Given the description of an element on the screen output the (x, y) to click on. 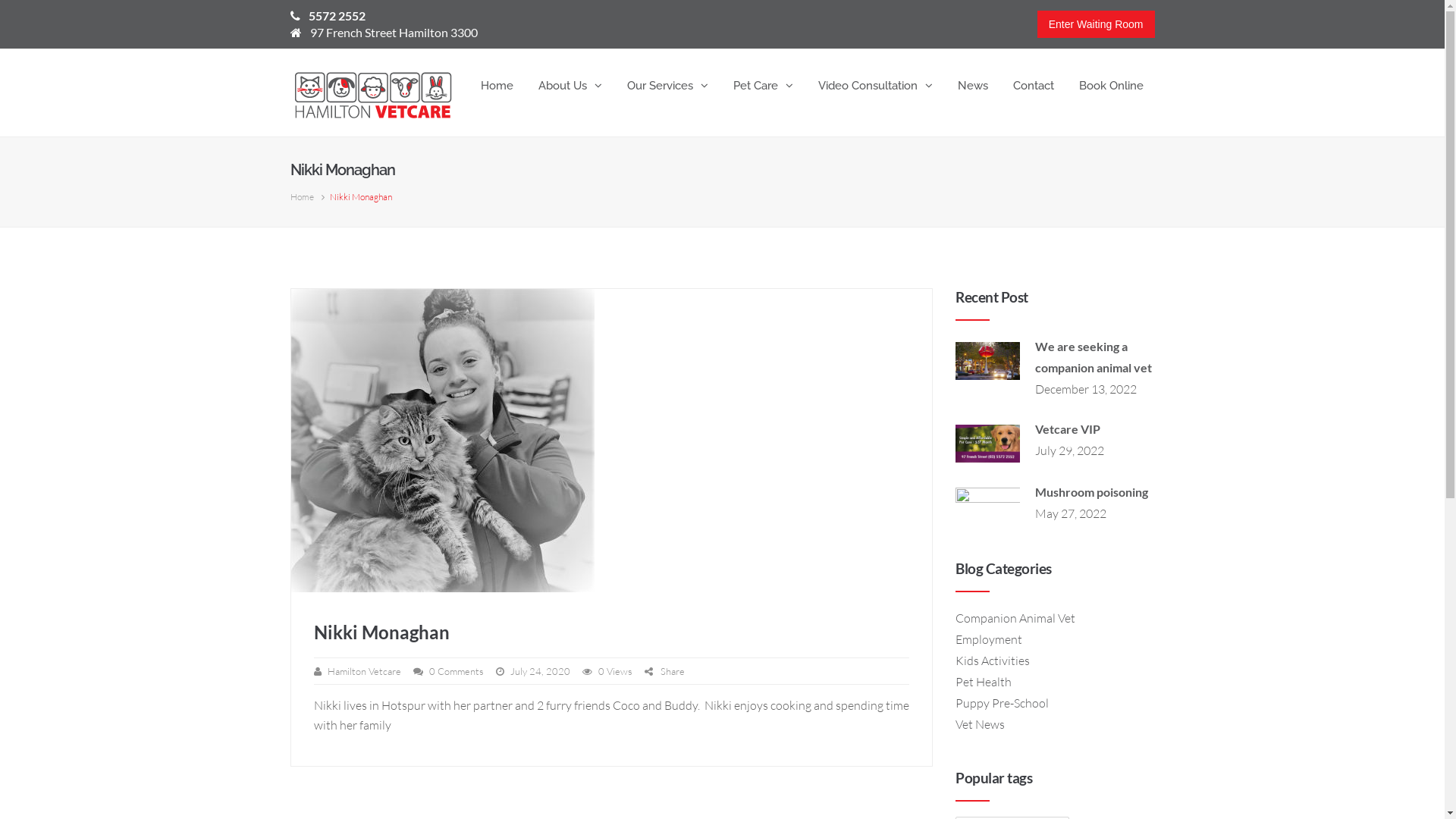
July 24, 2020 Element type: text (539, 671)
Hamilton Vetcare Element type: text (364, 671)
Pet Health Element type: text (983, 681)
Book Online Element type: text (1110, 85)
0 Comments Element type: text (456, 671)
Nikki Monaghan Element type: text (381, 632)
Companion Animal Vet Element type: text (1015, 617)
We are seeking a companion animal vet Element type: text (1093, 356)
Contact Element type: text (1032, 85)
Vetcare VIP Element type: text (1067, 428)
Home Element type: text (496, 85)
Puppy Pre-School Element type: text (1001, 702)
Video Consultation Element type: text (875, 85)
About Us Element type: text (569, 85)
News Element type: text (972, 85)
Vet News Element type: text (979, 723)
Home Element type: text (301, 196)
Mushroom poisoning Element type: text (1091, 491)
Kids Activities Element type: text (992, 660)
Pet Care Element type: text (762, 85)
Employment Element type: text (988, 638)
Our Services Element type: text (667, 85)
Enter Waiting Room Element type: text (1095, 23)
